Given the description of an element on the screen output the (x, y) to click on. 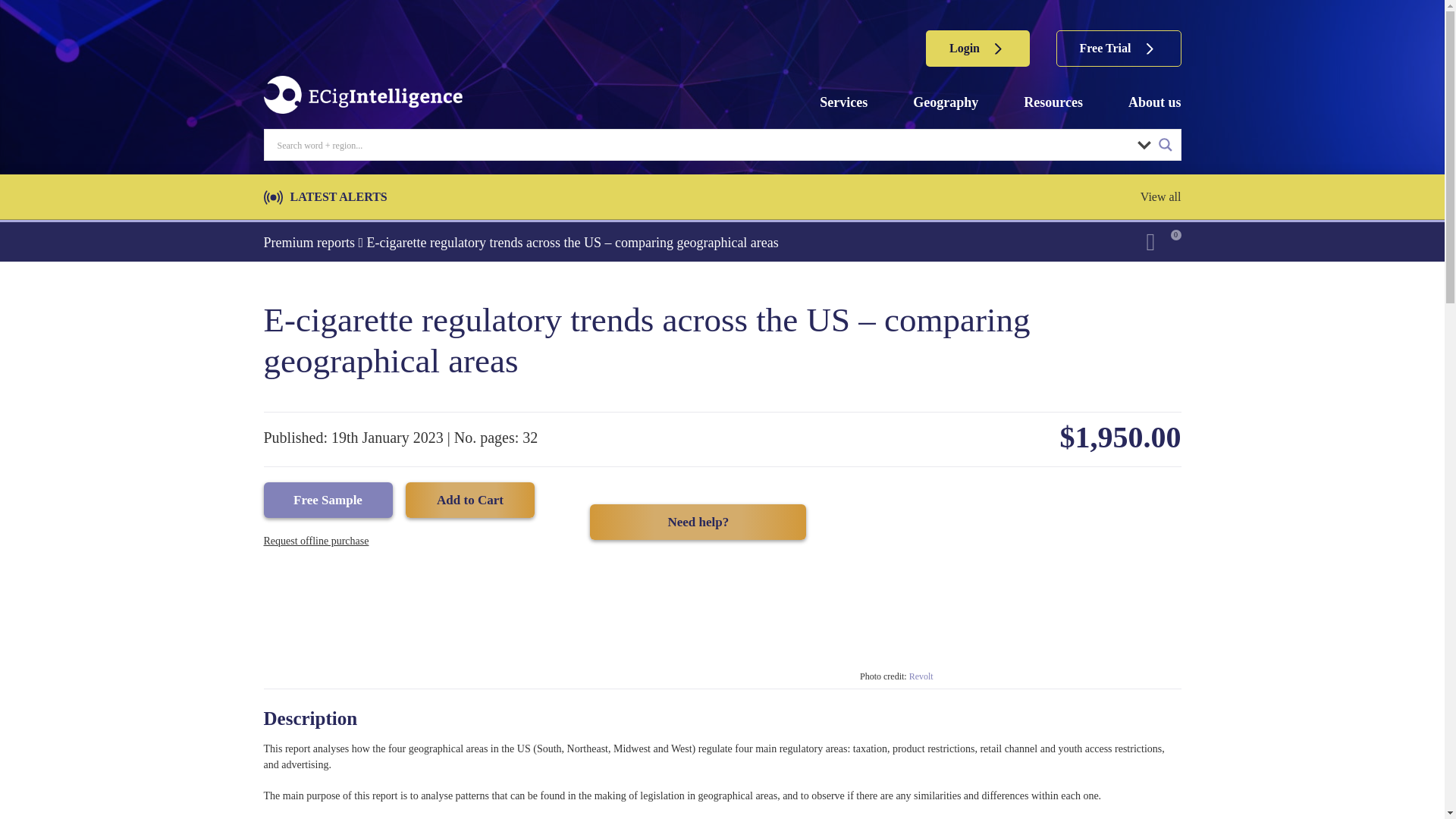
Free Trial (1118, 48)
Resources (1053, 102)
Geography (945, 102)
Get a free trial (1118, 48)
Login (977, 48)
Download sample (328, 499)
Services (843, 102)
Shopping Cart is Empty (1163, 241)
